Given the description of an element on the screen output the (x, y) to click on. 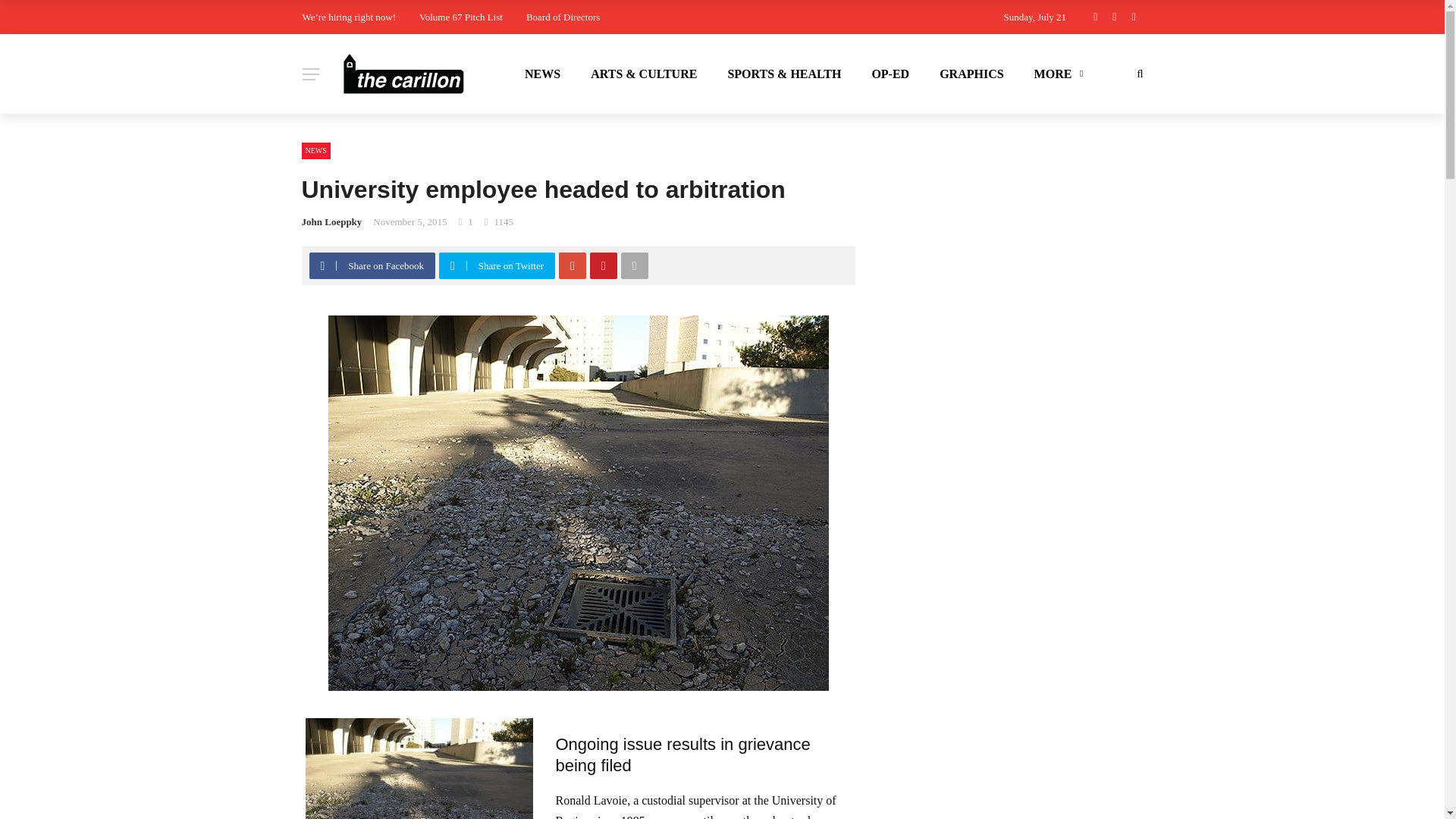
Volume 67 Pitch List (460, 16)
Board of Directors (562, 16)
GRAPHICS (970, 73)
MORE (1056, 73)
